Given the description of an element on the screen output the (x, y) to click on. 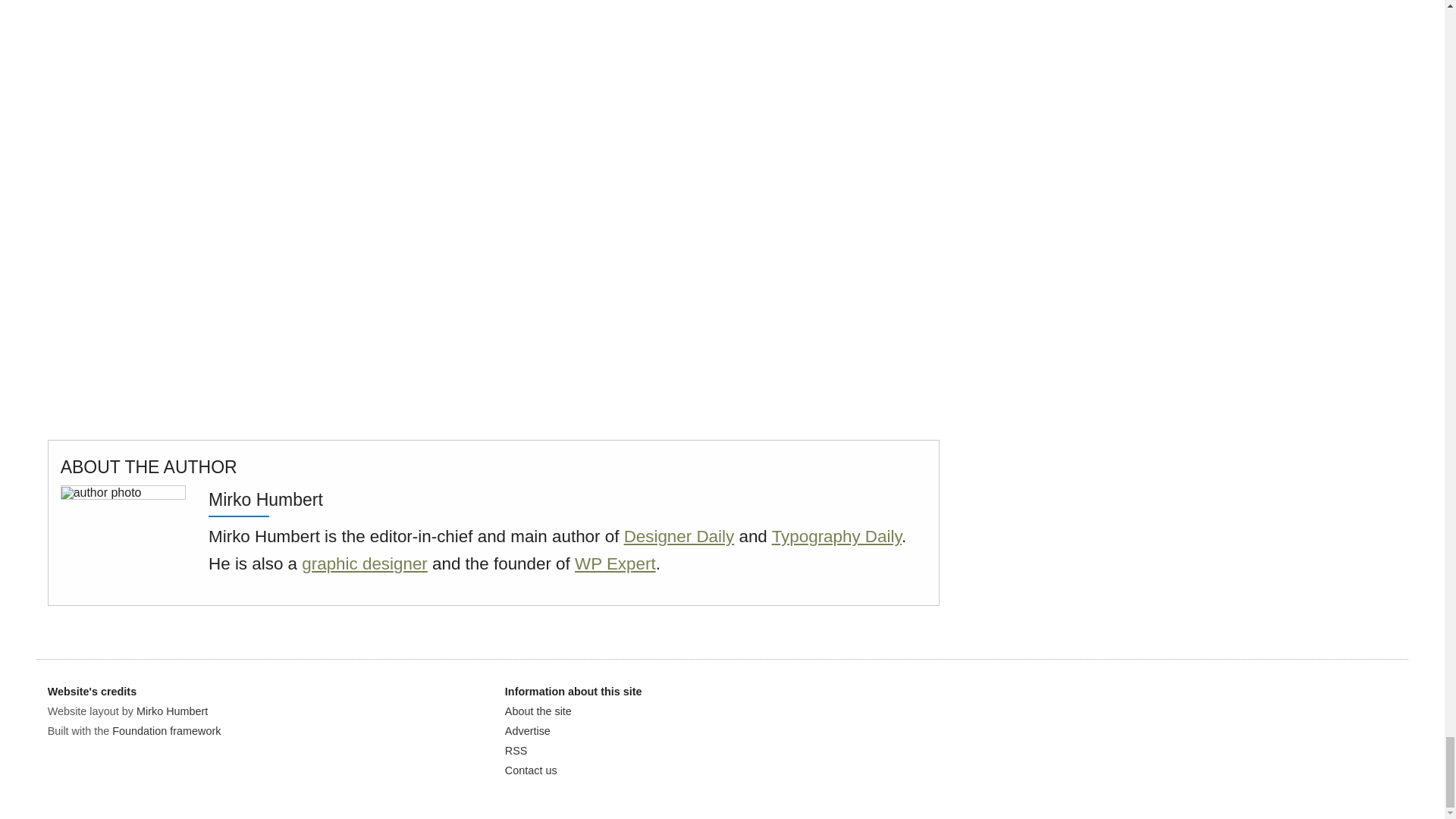
Mirko Humbert (172, 711)
Foundation framework (166, 730)
Typography Daily (836, 536)
WP Expert (615, 563)
graphic designer (364, 563)
Designer Daily (679, 536)
